Given the description of an element on the screen output the (x, y) to click on. 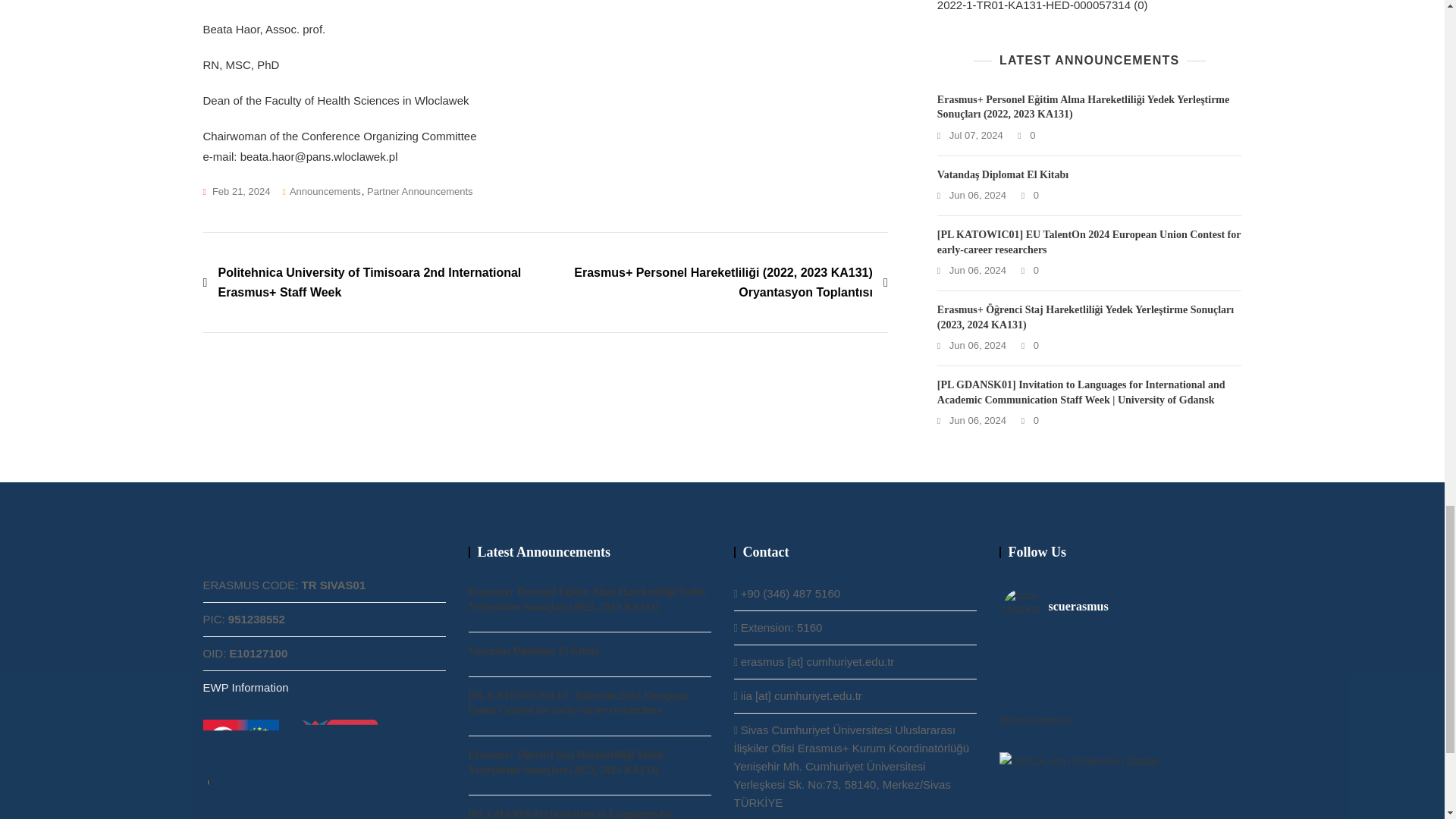
DMCA.com Protection Status (1078, 760)
